Given the description of an element on the screen output the (x, y) to click on. 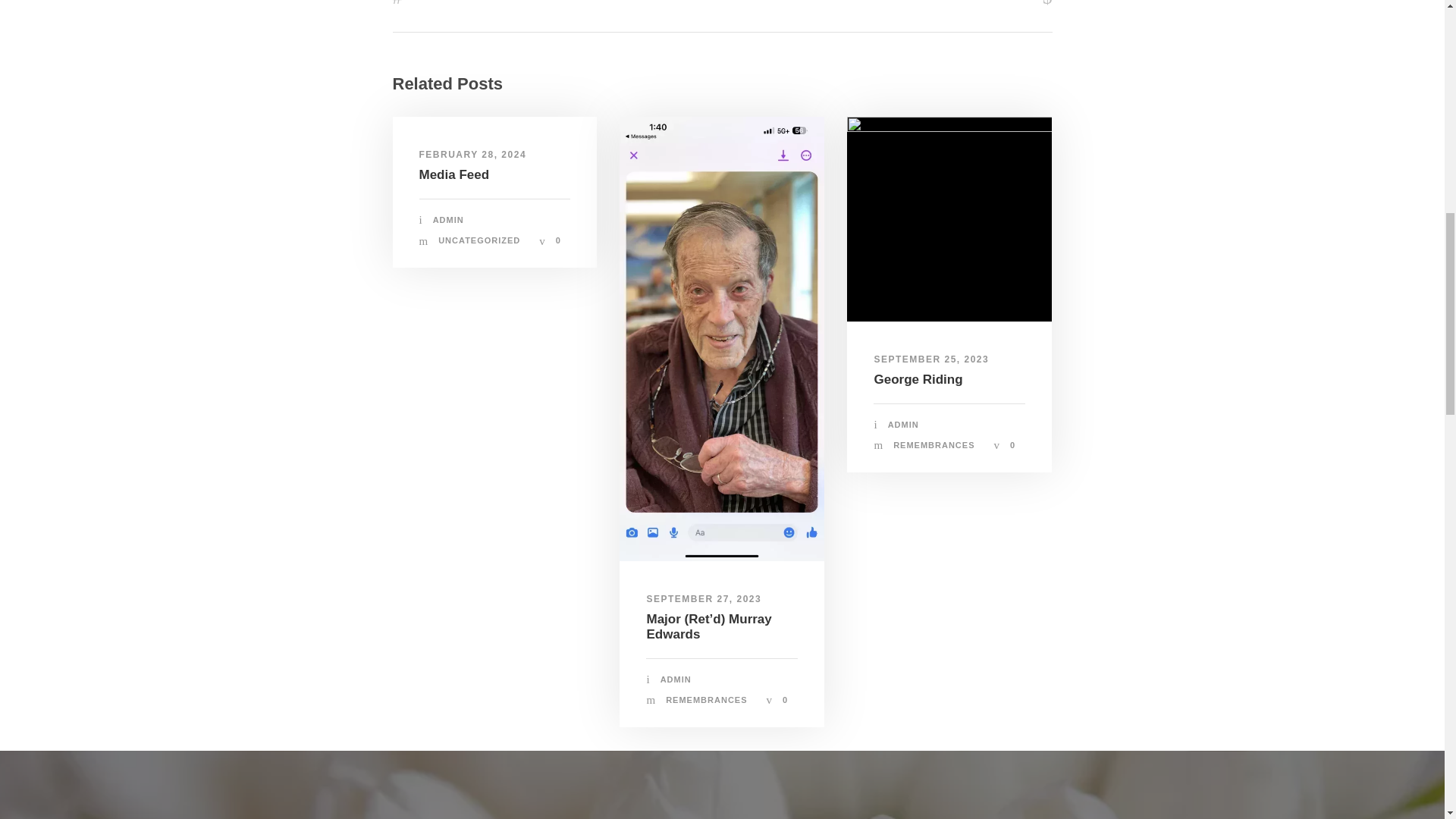
Posts by admin (676, 678)
Posts by admin (448, 219)
